Given the description of an element on the screen output the (x, y) to click on. 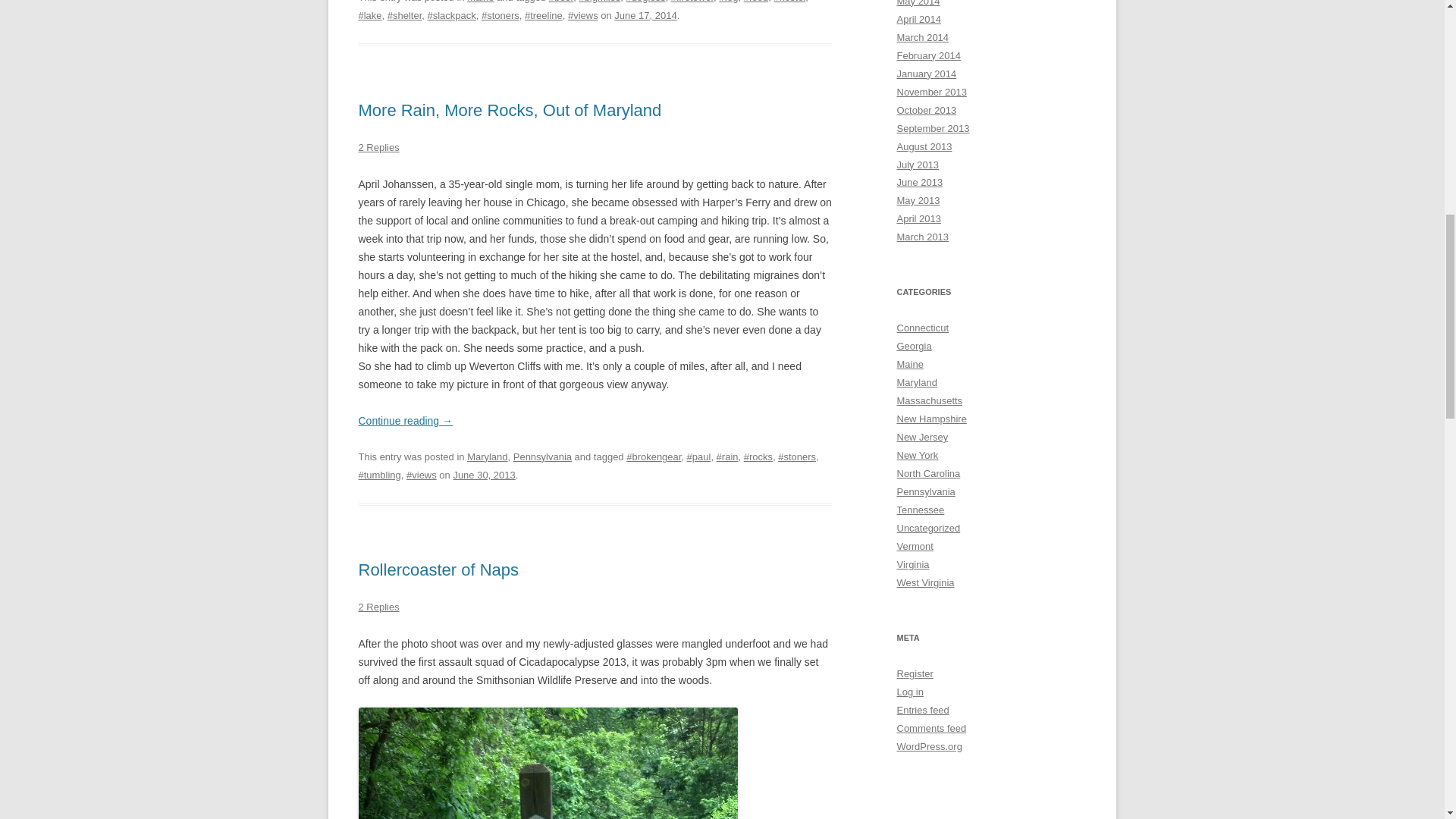
June 30, 2013 (483, 474)
More Rain, More Rocks, Out of Maryland (509, 109)
10:28 pm (483, 474)
Maine (480, 1)
Pennsylvania (542, 456)
June 17, 2014 (645, 15)
2 Replies (378, 147)
12:43 am (645, 15)
Maryland (486, 456)
